Given the description of an element on the screen output the (x, y) to click on. 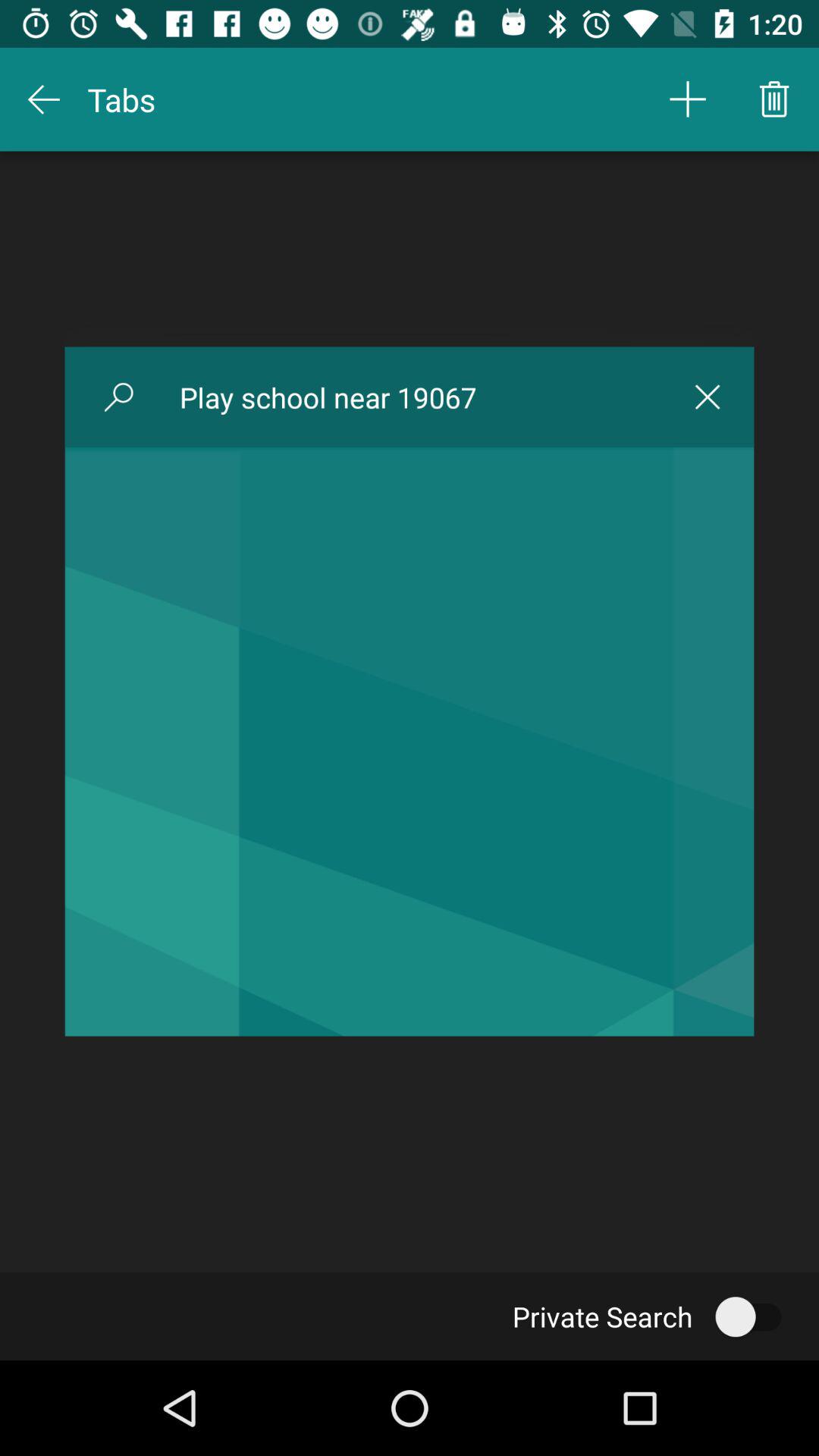
click icon next to play school near icon (118, 396)
